Given the description of an element on the screen output the (x, y) to click on. 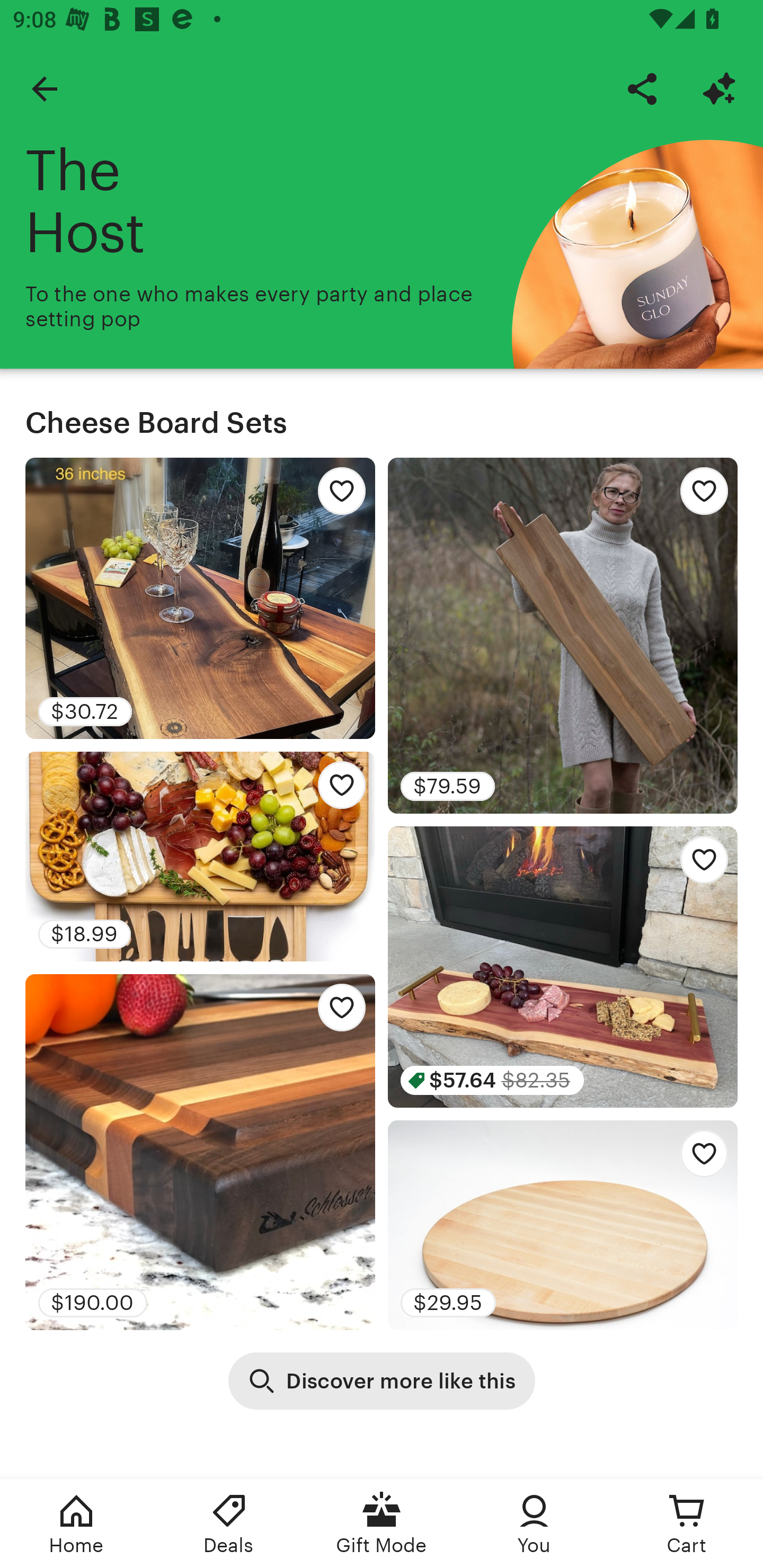
Back (44, 88)
$30.72 (200, 597)
$79.59 (562, 635)
$18.99 (200, 856)
Sale price: $57.64 $57.64 $82.35 (562, 966)
$190.00 (200, 1151)
$29.95 (562, 1225)
Discover more like this (381, 1380)
Home (76, 1523)
Deals (228, 1523)
You (533, 1523)
Cart (686, 1523)
